Given the description of an element on the screen output the (x, y) to click on. 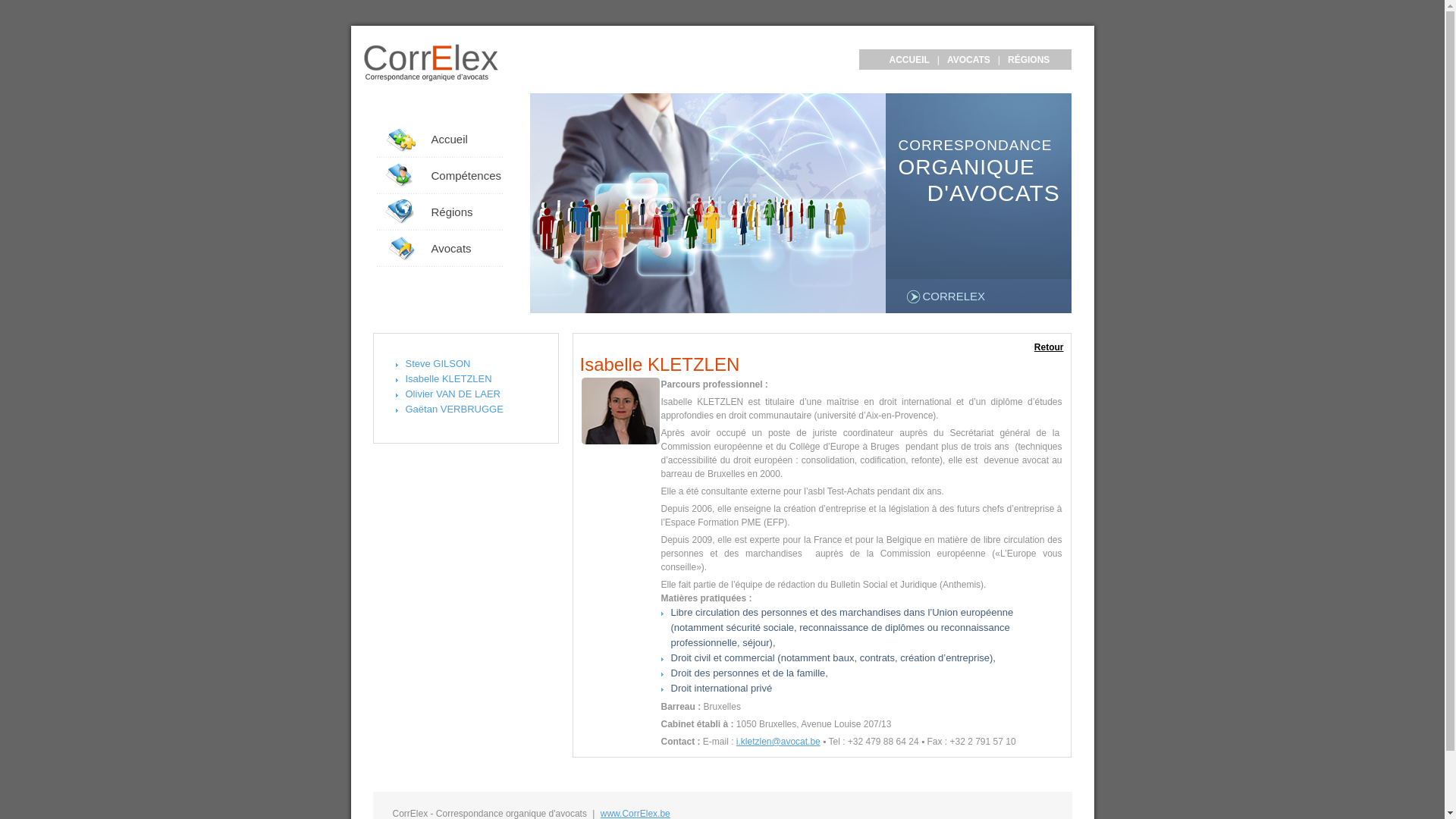
Olivier VAN DE LAER Element type: text (451, 393)
Retour Element type: text (1048, 347)
AVOCATS Element type: text (968, 59)
Isabelle KLETZLEN Element type: hover (619, 410)
Accueil Element type: text (442, 139)
Steve GILSON Element type: text (437, 363)
Avocats Element type: text (442, 248)
i.kletzlen@avocat.be Element type: text (778, 741)
ACCUEIL Element type: text (908, 59)
CORRELEX Element type: text (945, 296)
Isabelle KLETZLEN Element type: text (447, 378)
